Given the description of an element on the screen output the (x, y) to click on. 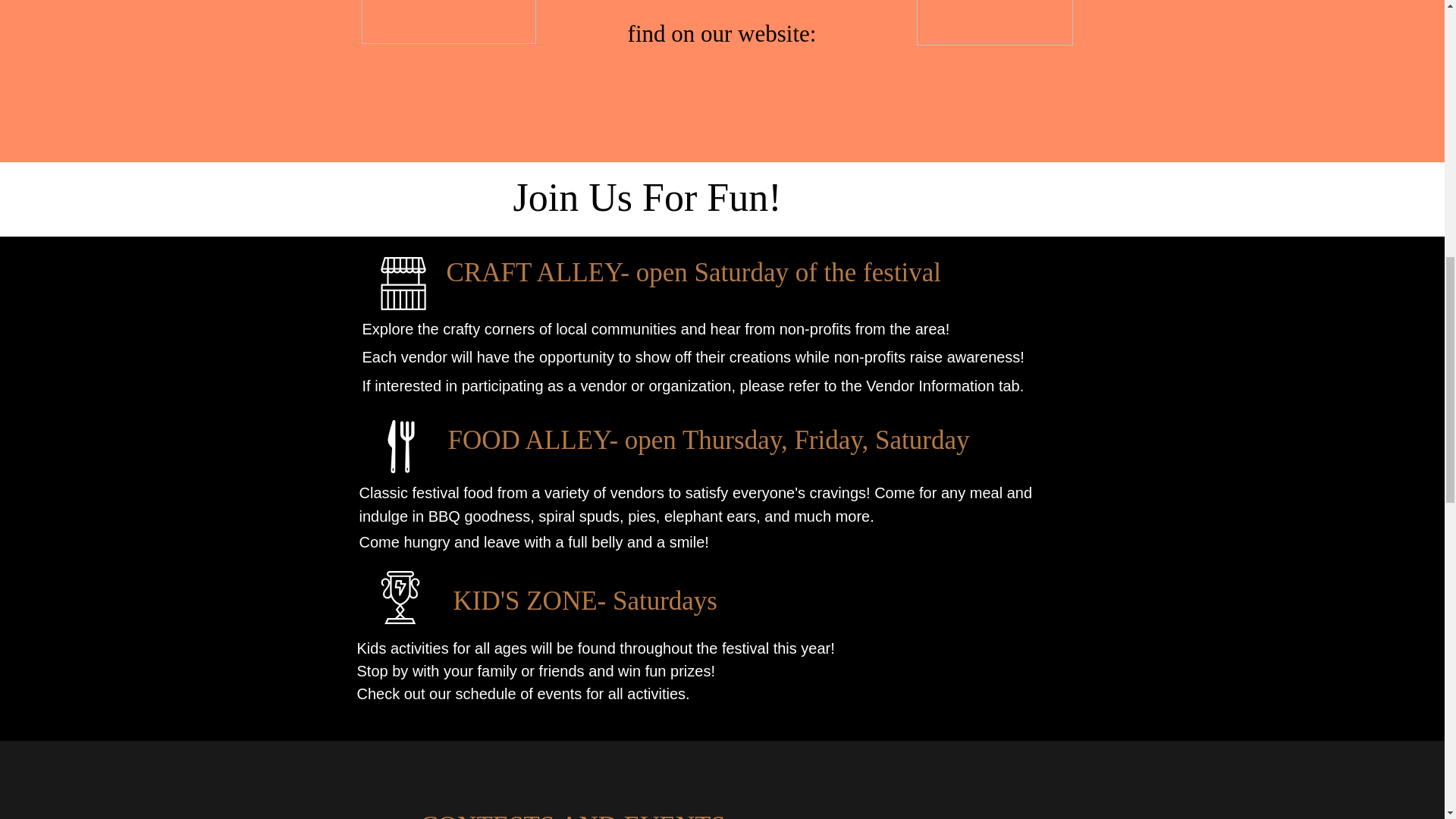
Pumpkins (993, 22)
Park in the Fall (448, 22)
